Given the description of an element on the screen output the (x, y) to click on. 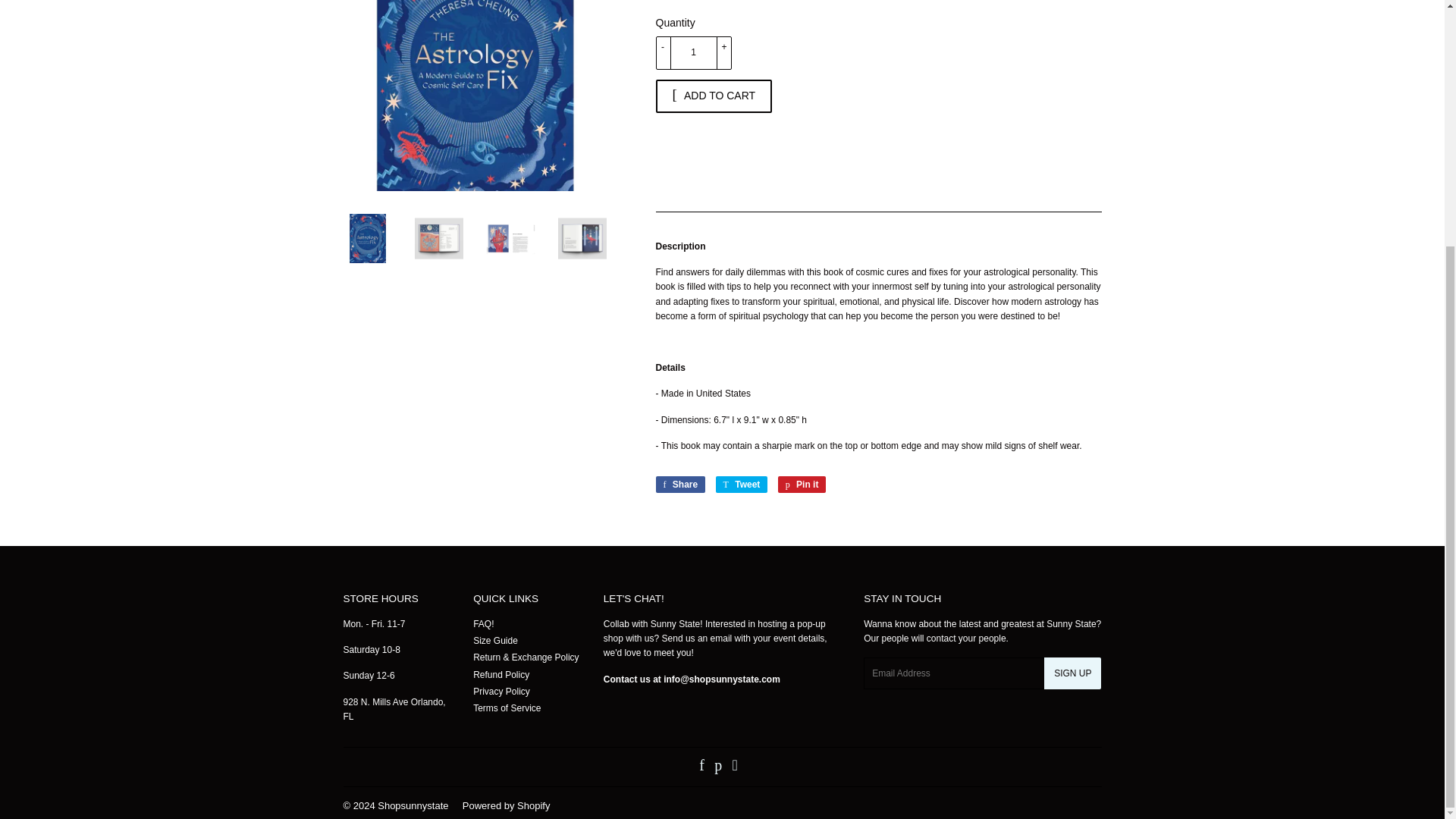
Share on Facebook (679, 484)
Pin on Pinterest (802, 484)
Tweet on Twitter (742, 484)
1 (692, 52)
